Given the description of an element on the screen output the (x, y) to click on. 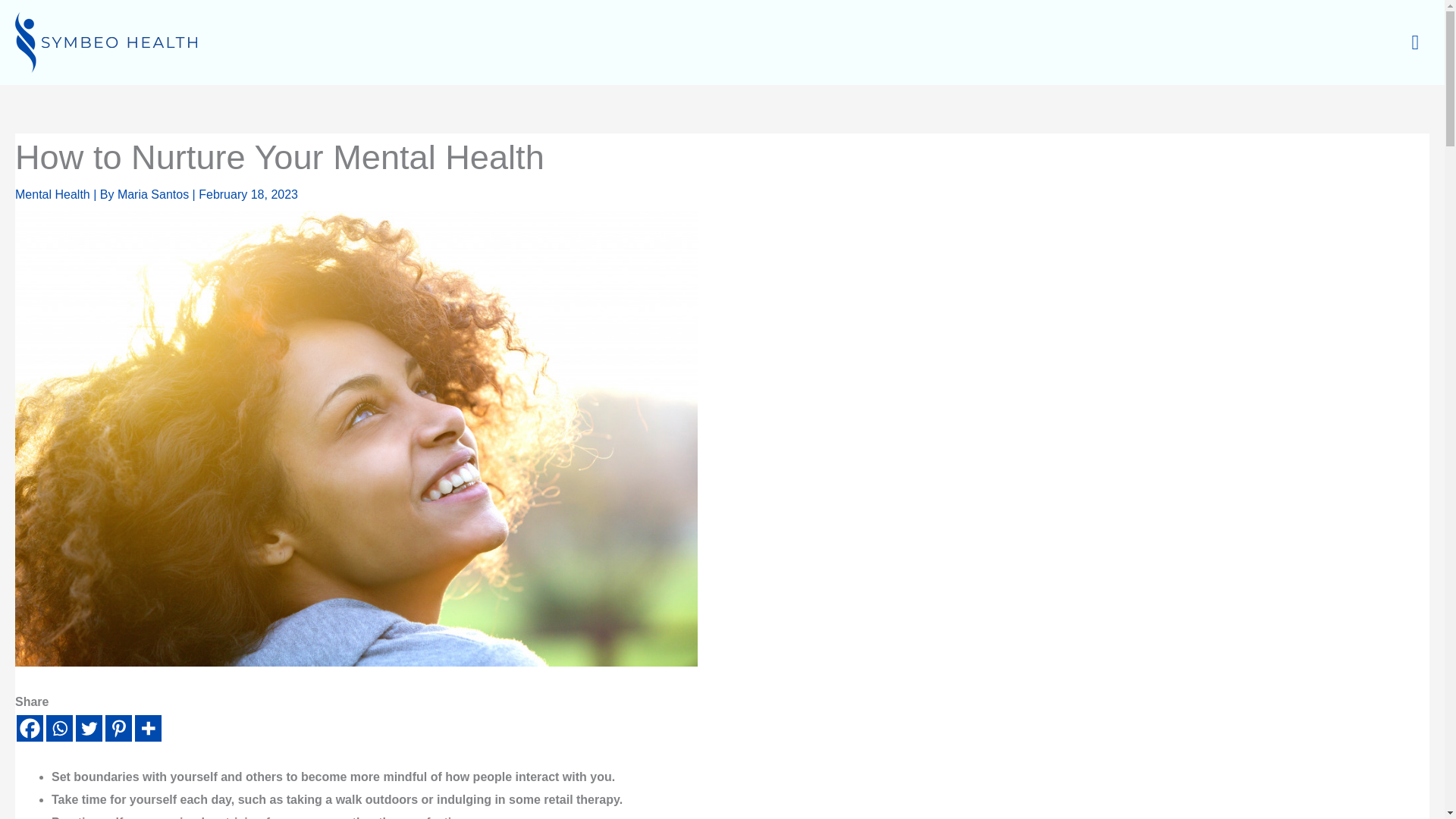
Pinterest (118, 728)
Mental Health (52, 194)
Facebook (29, 728)
Whatsapp (59, 728)
View all posts by Maria Santos (154, 194)
Maria Santos (154, 194)
More (148, 728)
Twitter (88, 728)
